Given the description of an element on the screen output the (x, y) to click on. 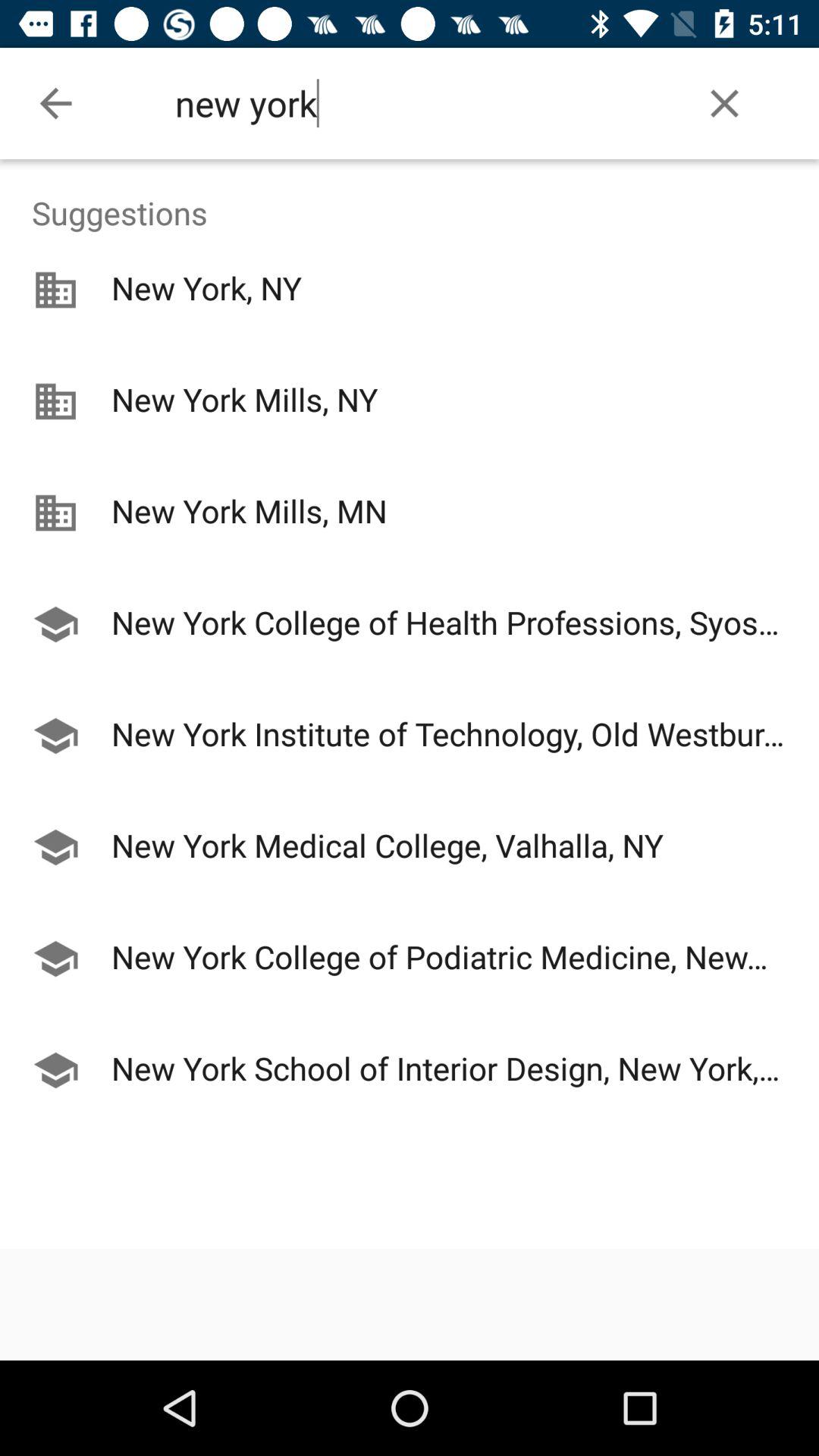
turn off the icon above the suggestions (724, 103)
